Given the description of an element on the screen output the (x, y) to click on. 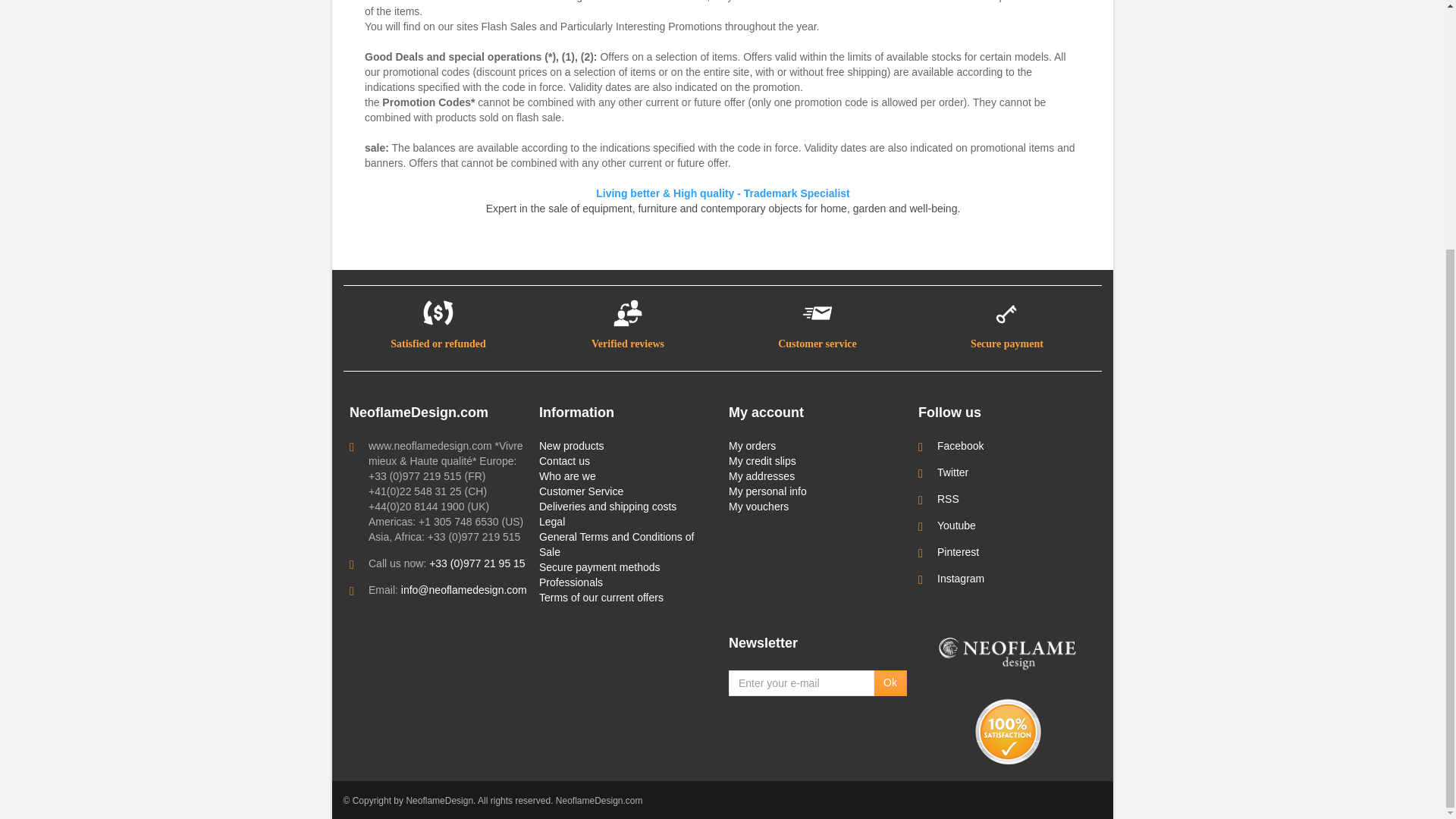
Enter your e-mail (802, 683)
